Given the description of an element on the screen output the (x, y) to click on. 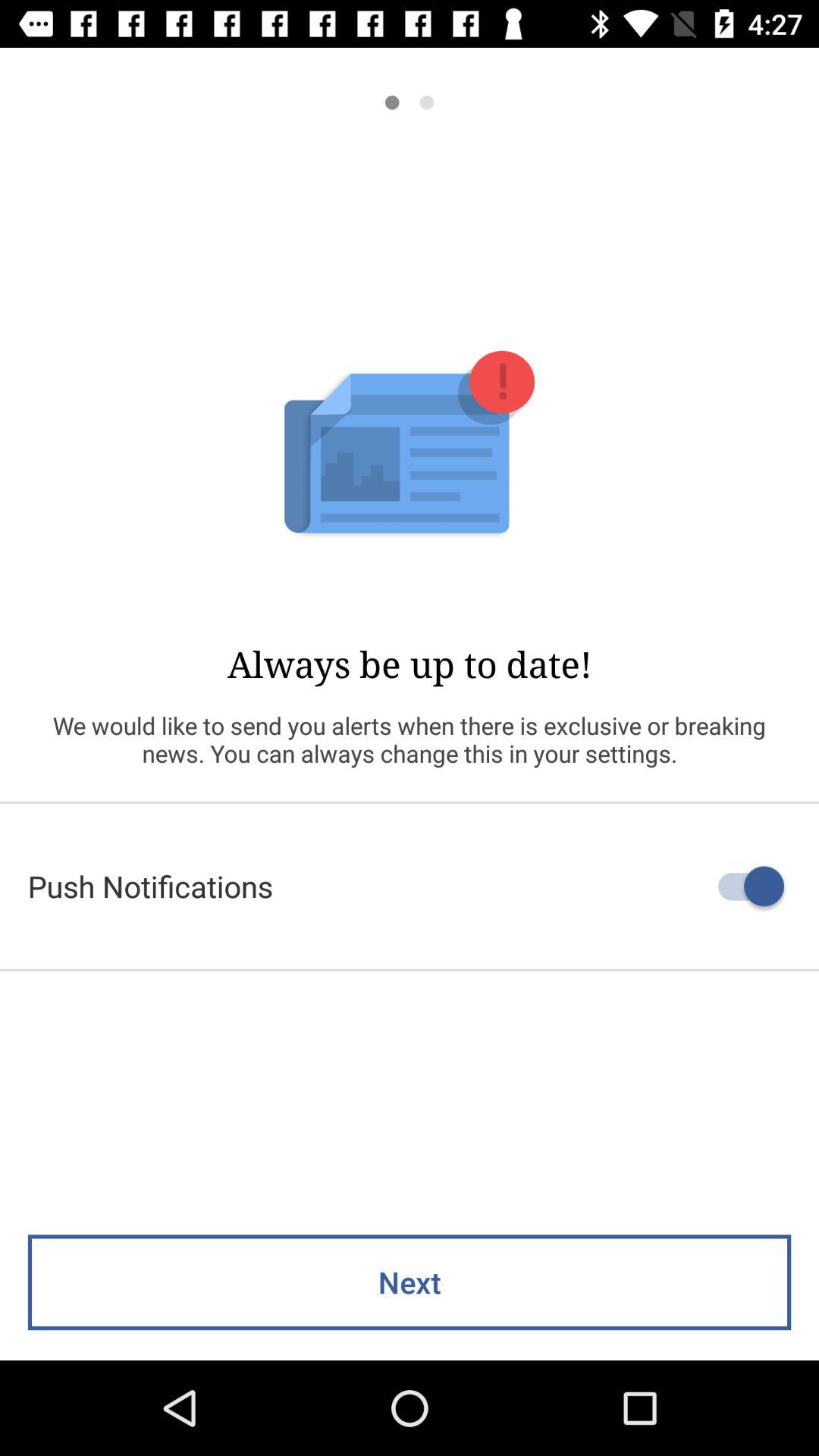
click next icon (409, 1282)
